Given the description of an element on the screen output the (x, y) to click on. 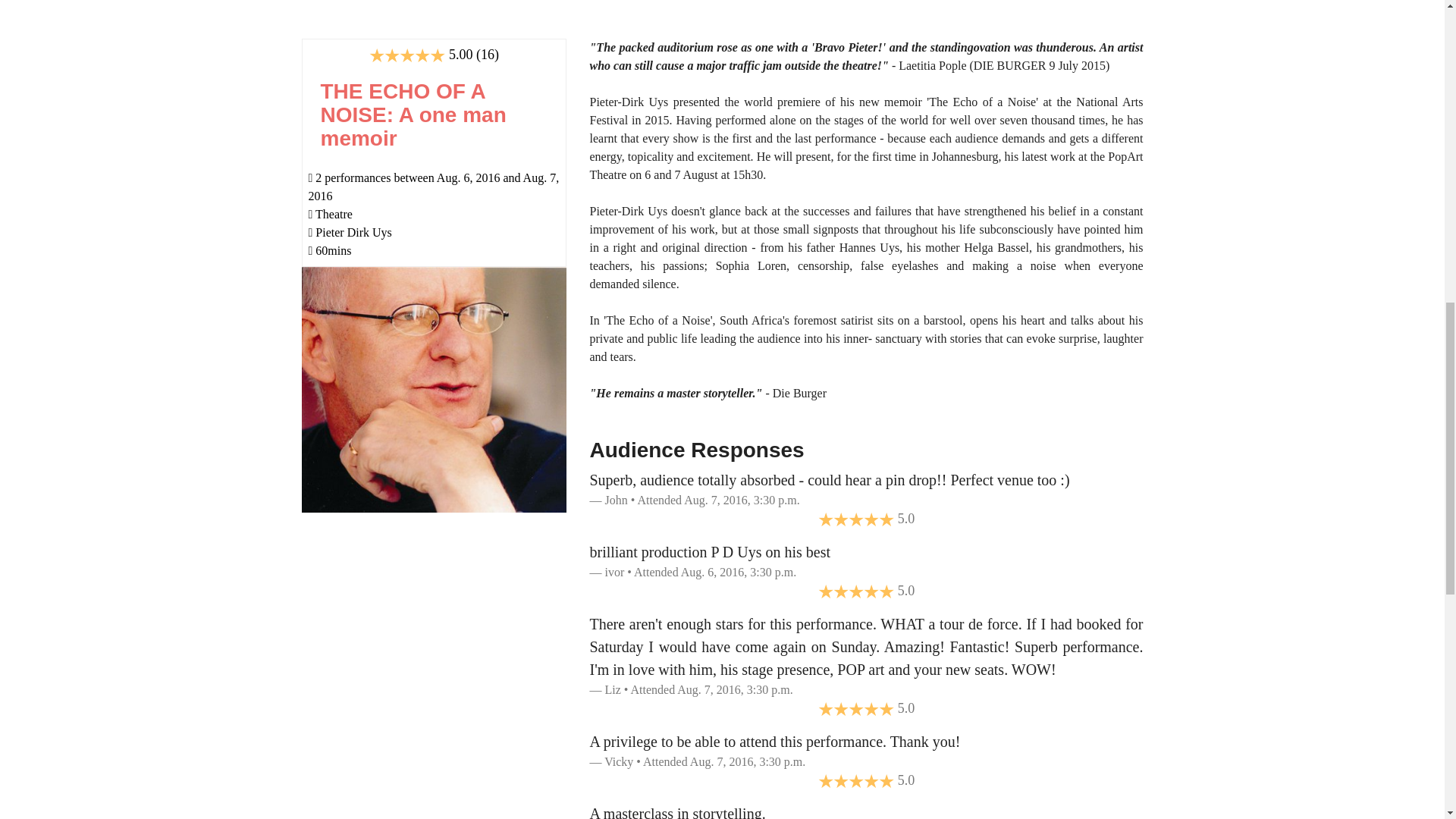
Average audience rating of 5.0 out of 5, from None ratings (855, 708)
Average audience rating of 5.0 out of 5, from None ratings (855, 590)
Average audience rating of 5.0 out of 5, from None ratings (855, 780)
Average audience rating of 5.00 out of 5, from 16 ratings (407, 55)
Average audience rating of 5.0 out of 5, from None ratings (855, 518)
